Given the description of an element on the screen output the (x, y) to click on. 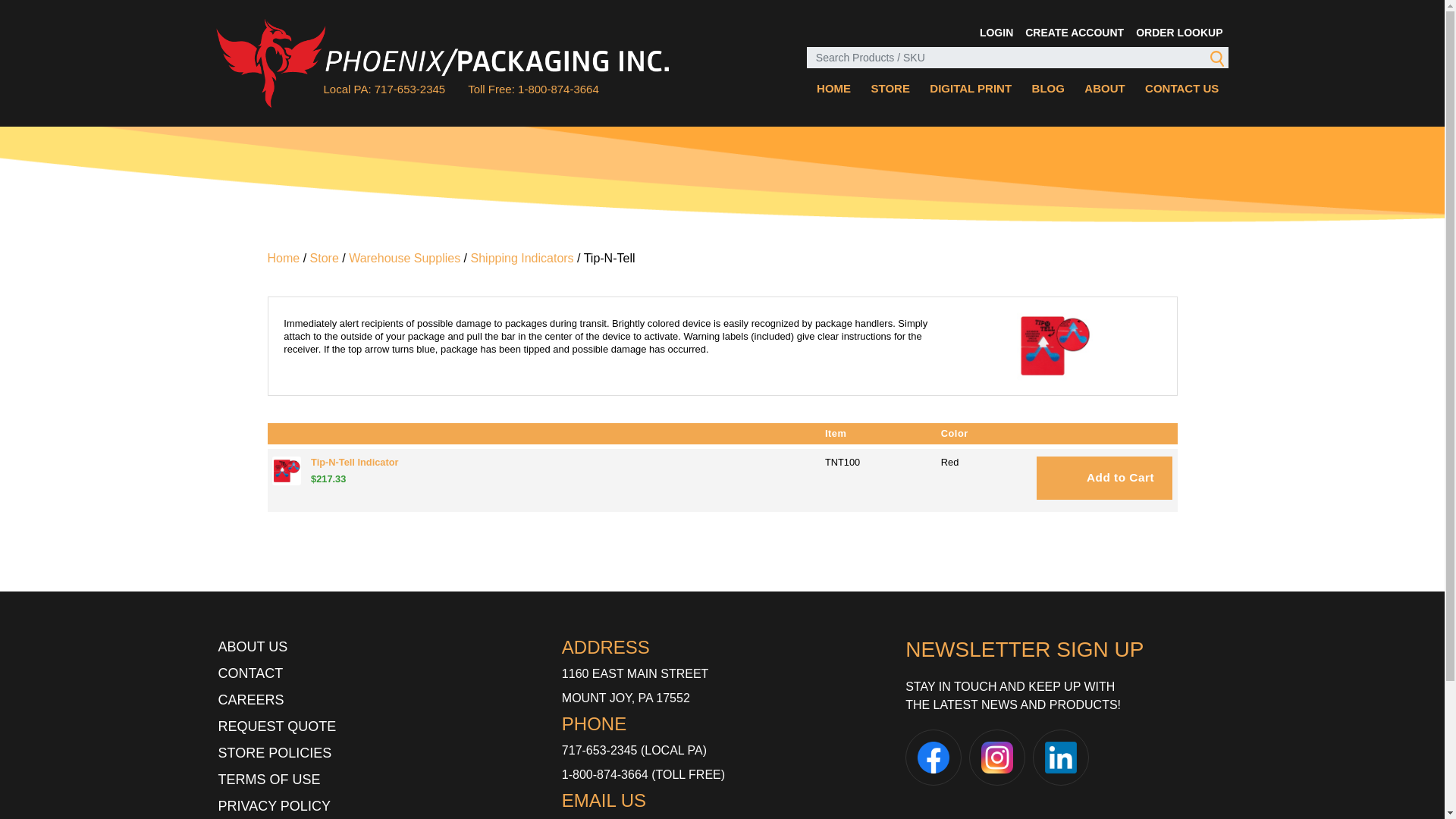
Store (324, 257)
DIGITAL PRINT (971, 88)
Create Account (1074, 32)
1-800-874-3664 (604, 774)
717-653-2345 (599, 749)
Login (996, 32)
Warehouse Supplies (404, 257)
STORE (890, 88)
Home (282, 257)
LOGIN (996, 32)
